Given the description of an element on the screen output the (x, y) to click on. 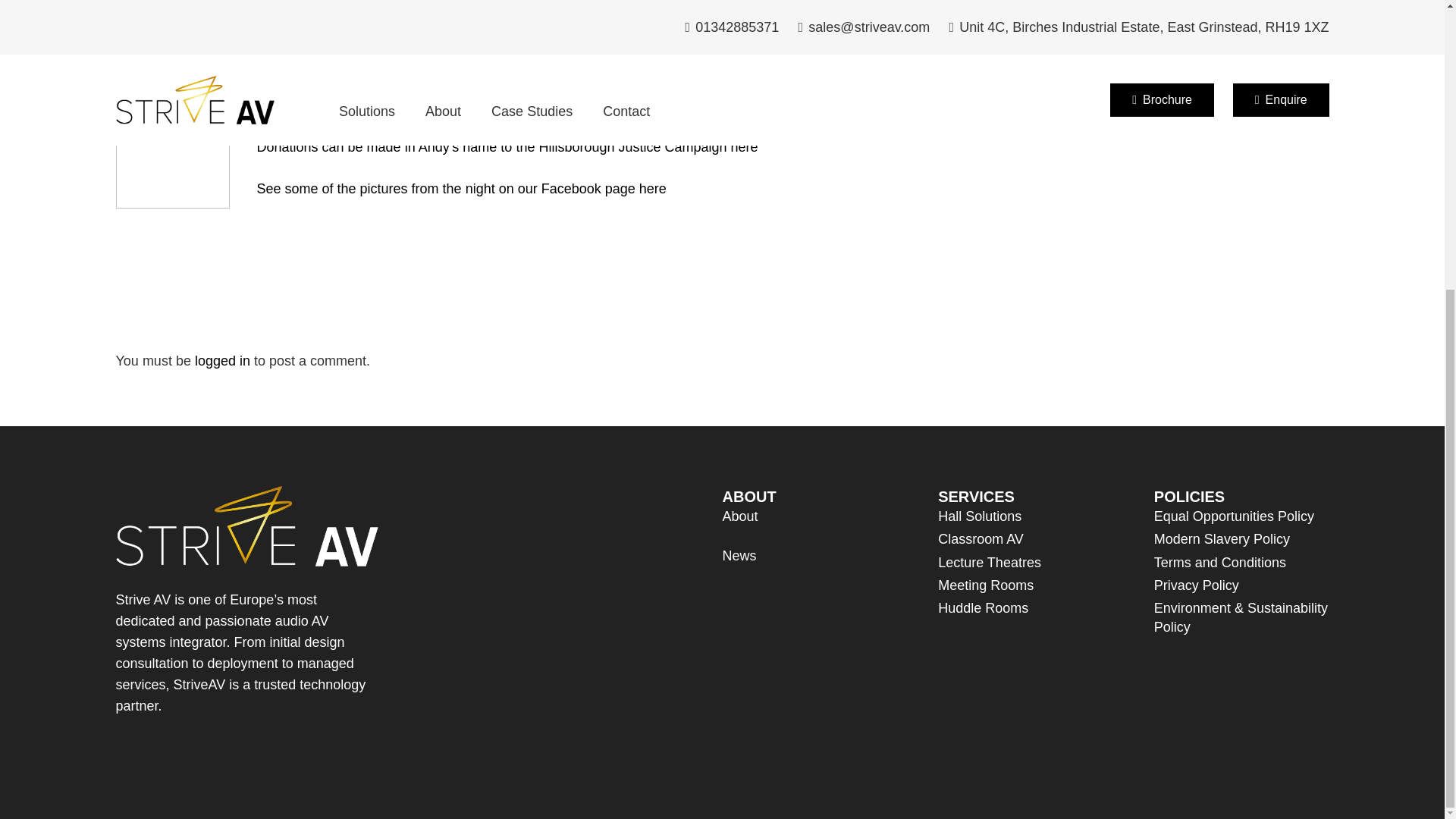
Hall Solutions (979, 75)
Privacy Policy (1196, 144)
Modern Slavery Policy (1222, 98)
About (739, 75)
News (738, 114)
Lecture Theatres (989, 121)
Terms and Conditions (1219, 121)
Meeting Rooms (985, 144)
Classroom AV (980, 98)
logged in (222, 360)
Huddle Rooms (982, 167)
Equal Opportunities Policy (1234, 75)
